Given the description of an element on the screen output the (x, y) to click on. 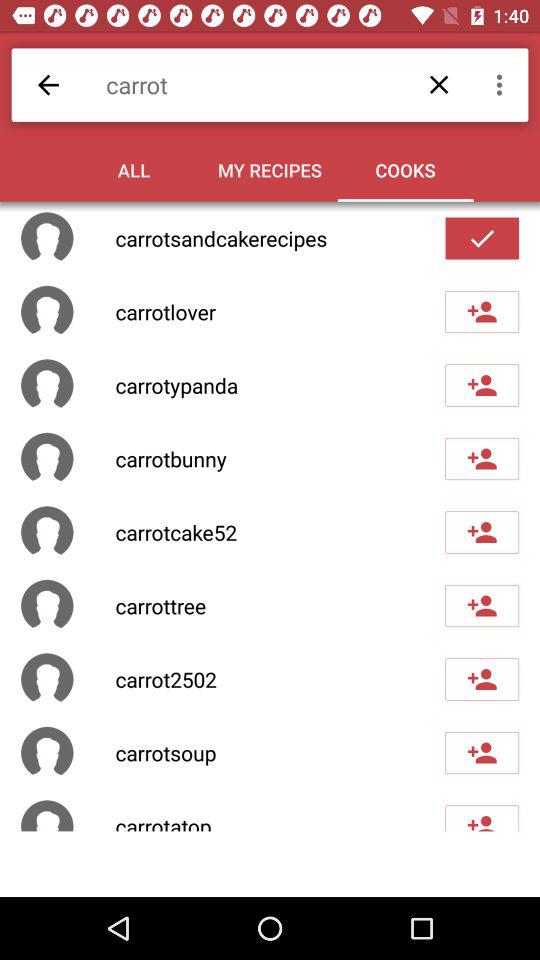
turn on the icon to the right of carrot item (501, 84)
